Given the description of an element on the screen output the (x, y) to click on. 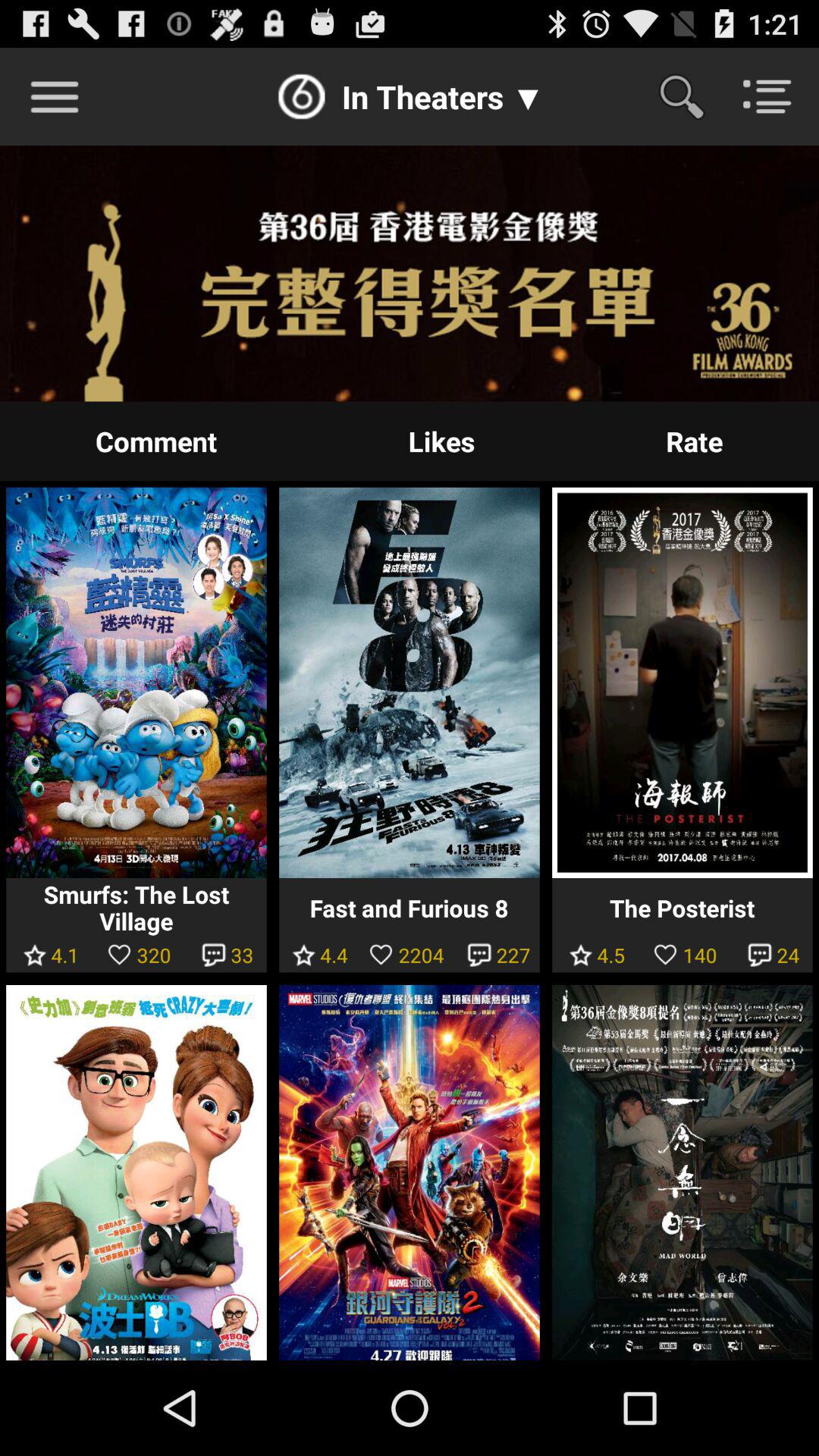
go to search button (691, 96)
